Given the description of an element on the screen output the (x, y) to click on. 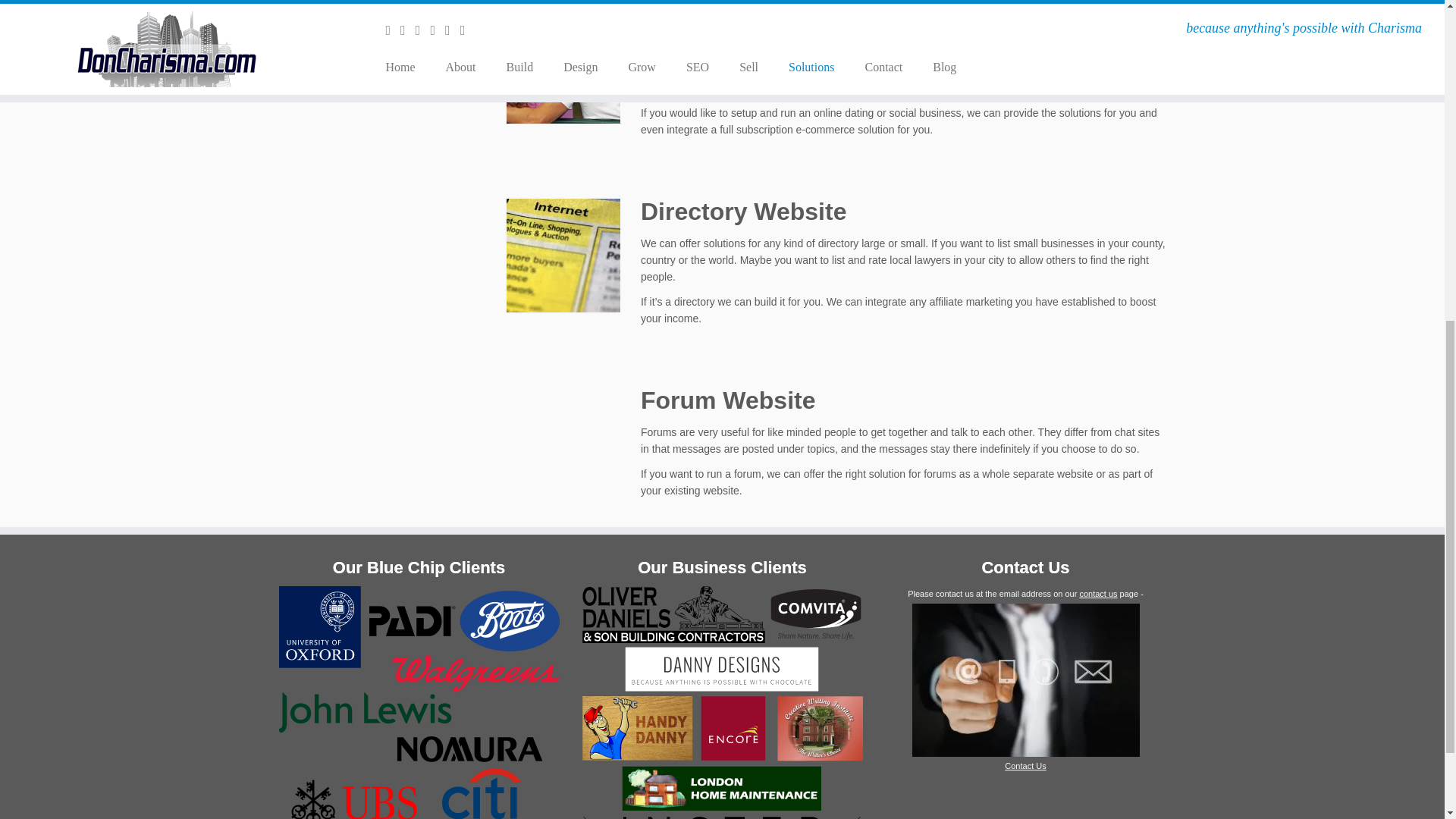
contact us (1097, 593)
Contact Us (1024, 765)
